Given the description of an element on the screen output the (x, y) to click on. 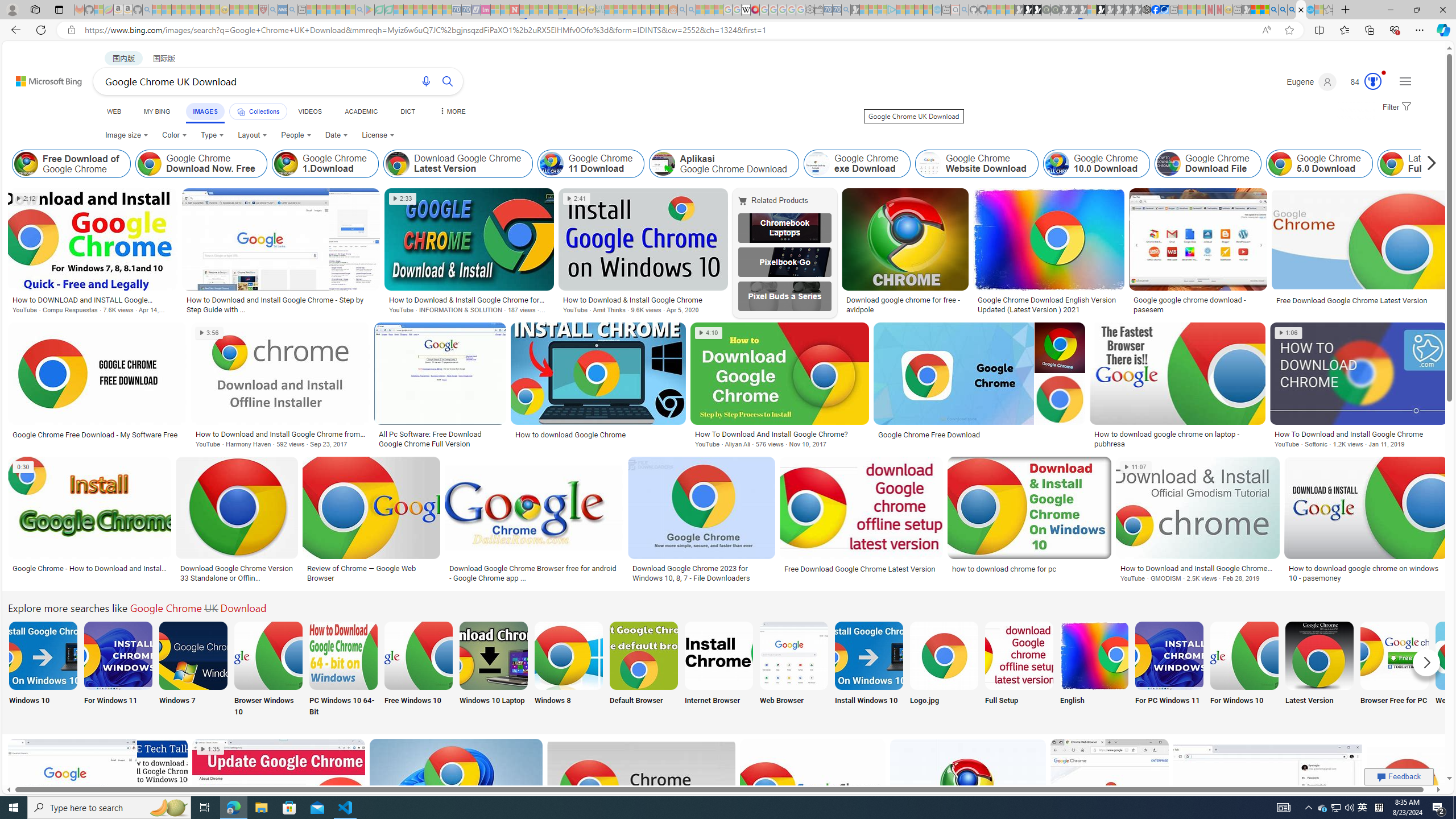
Google Chrome Download Windows 8 Windows 8 (568, 669)
Download Google Chrome On Windows 10 (42, 654)
WEB (114, 111)
Google Chrome 11 Download (552, 163)
Google Chrome Download File (1168, 163)
Google Chrome Download File (1207, 163)
Back to Bing search (41, 78)
2:33 (402, 198)
WEB (114, 111)
